Given the description of an element on the screen output the (x, y) to click on. 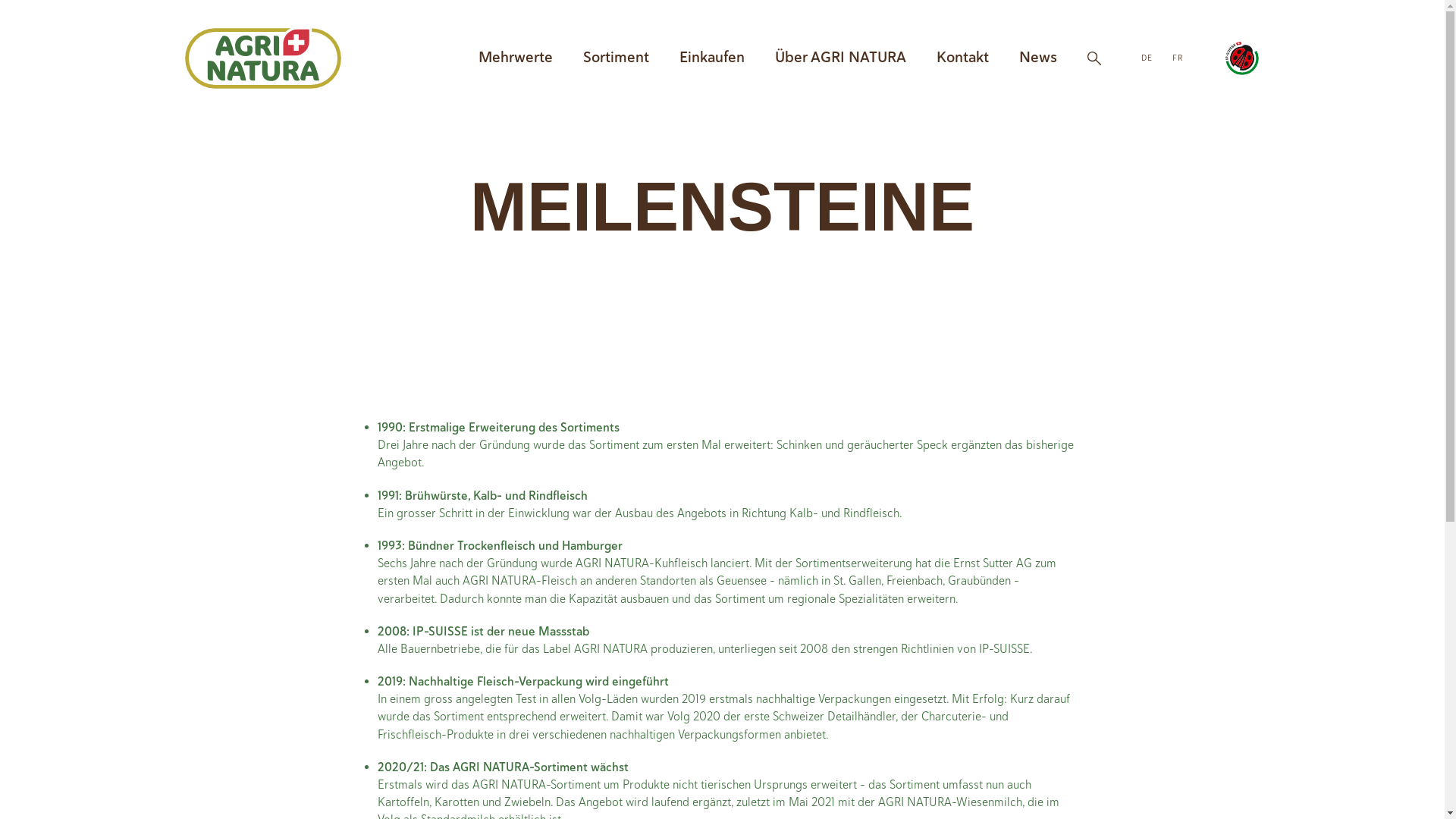
FR Element type: text (1177, 57)
Agri Natura Element type: hover (262, 58)
Mehrwerte Element type: text (515, 57)
DE Element type: text (1146, 57)
Kontakt Element type: text (962, 57)
Einkaufen Element type: text (711, 57)
Sortiment Element type: text (616, 57)
News Element type: text (1038, 57)
